Given the description of an element on the screen output the (x, y) to click on. 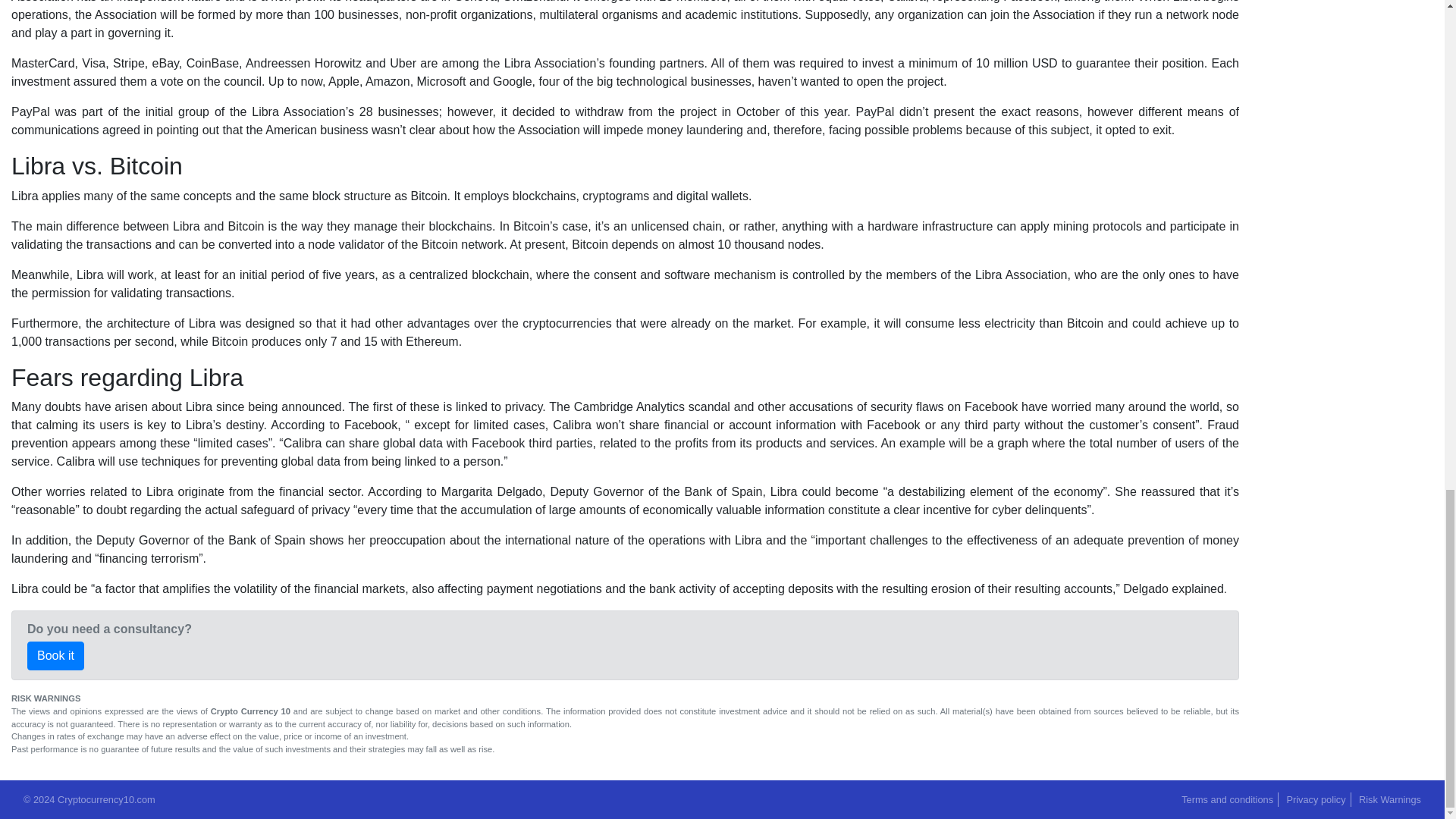
Risk Warnings (1389, 799)
Privacy policy (1315, 799)
Book it (55, 655)
Terms and conditions (1226, 799)
